Given the description of an element on the screen output the (x, y) to click on. 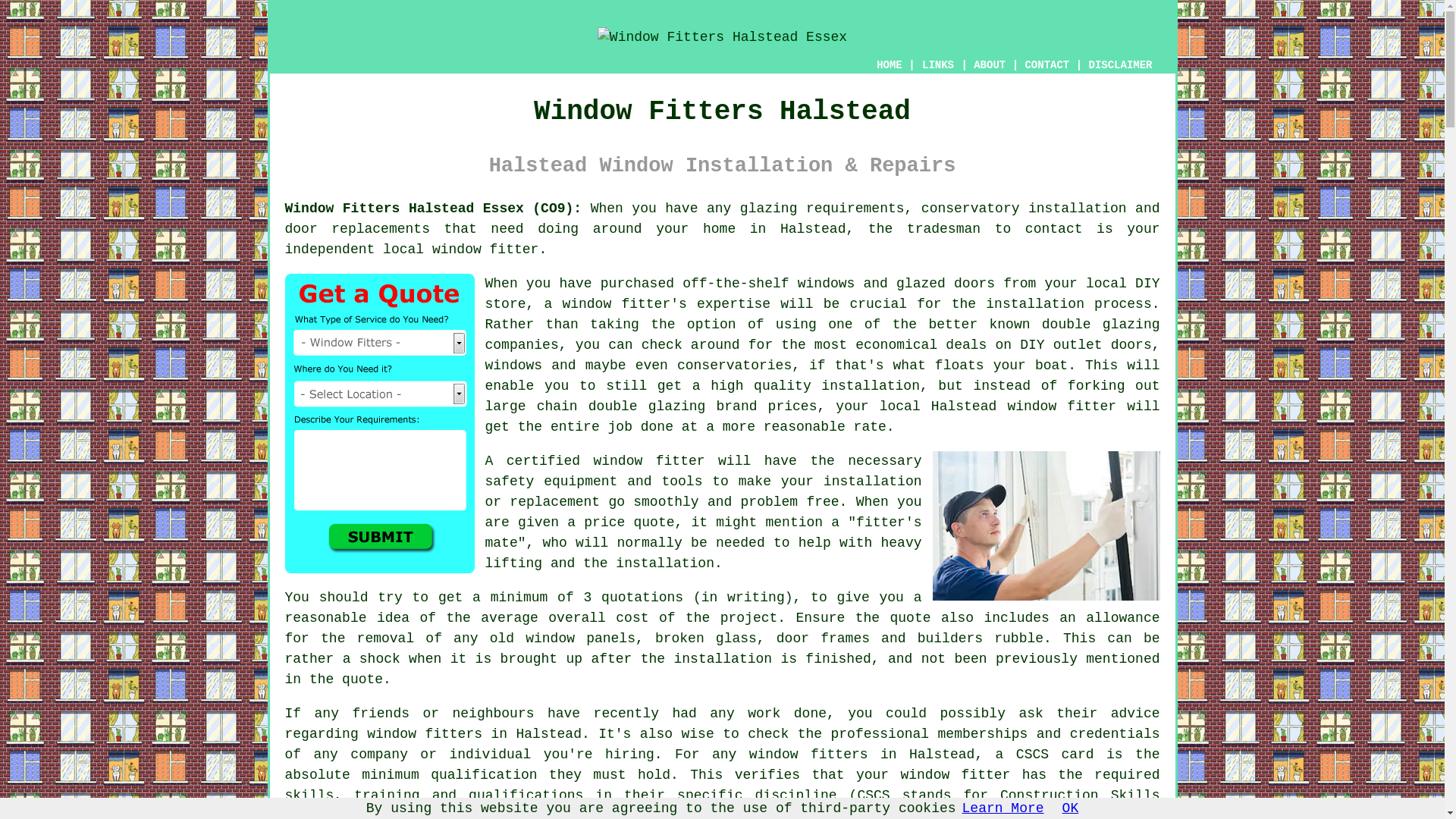
window fitter (485, 249)
LINKS (938, 65)
Window Fitters Halstead (721, 37)
HOME (889, 64)
